Given the description of an element on the screen output the (x, y) to click on. 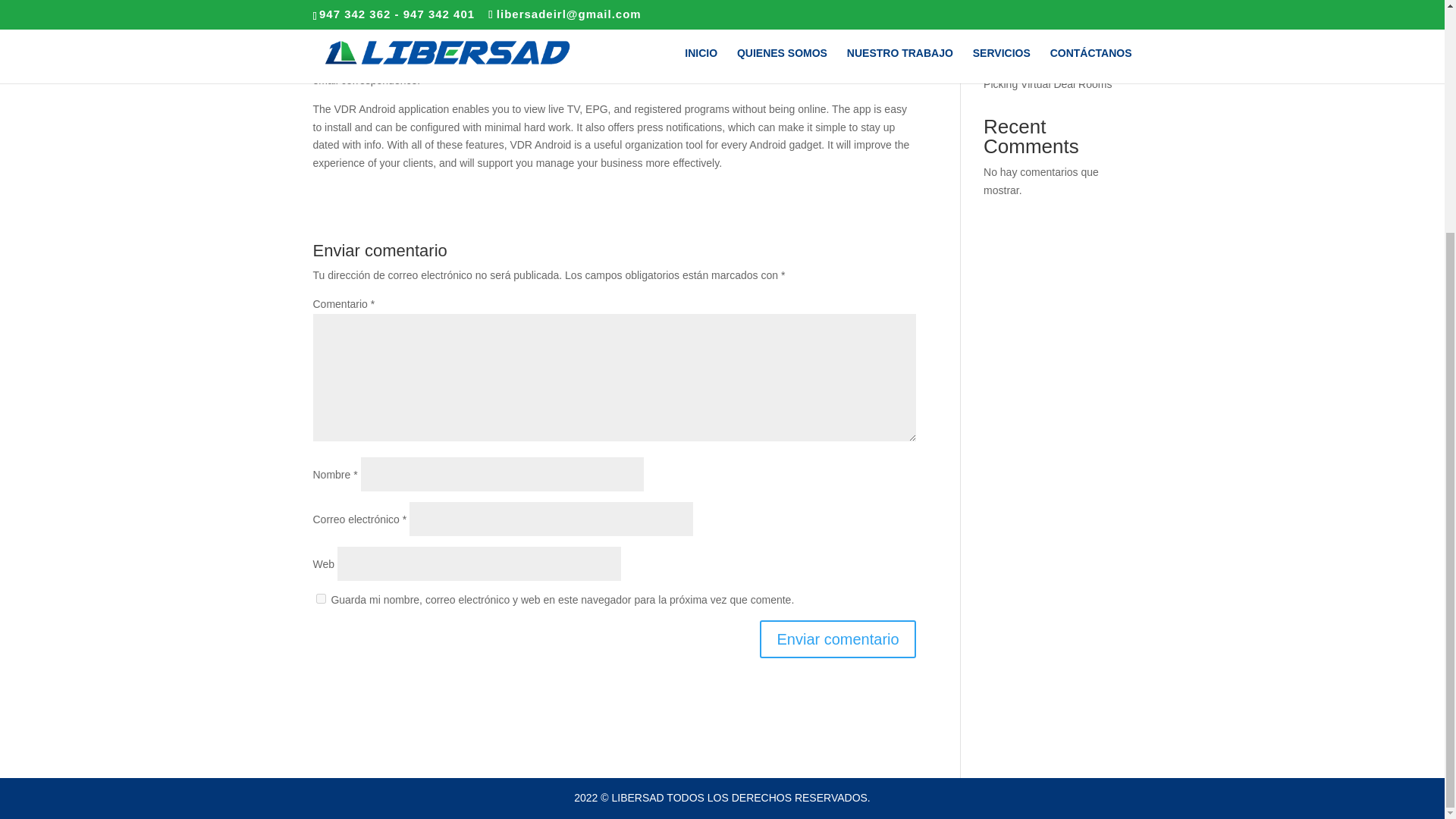
Picking Virtual Deal Rooms (1048, 83)
Tips on how to Write a Info Blog (1046, 3)
yes (319, 598)
Enviar comentario (837, 638)
Enviar comentario (837, 638)
